Given the description of an element on the screen output the (x, y) to click on. 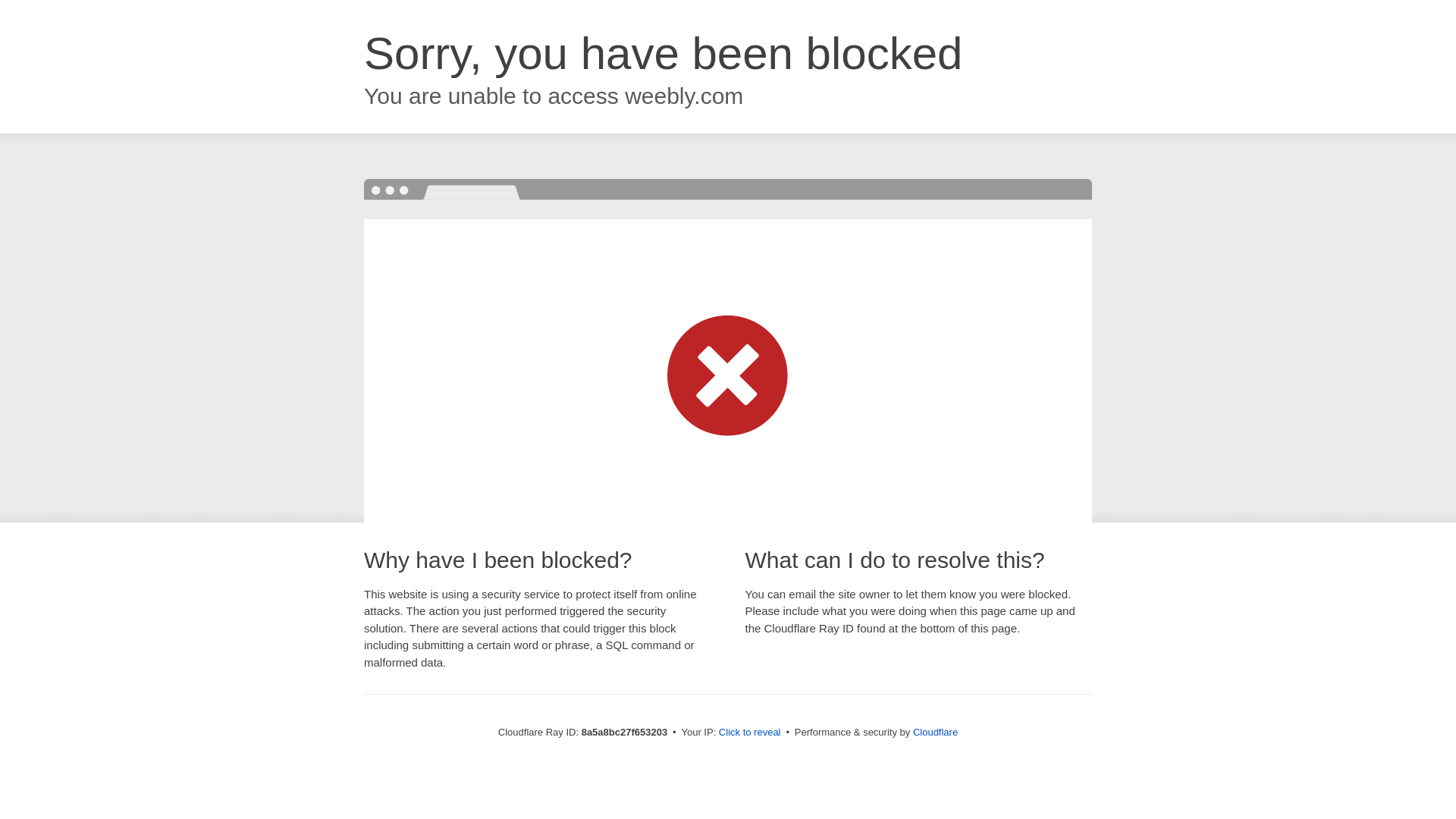
Click to reveal (749, 732)
Cloudflare (935, 731)
